Given the description of an element on the screen output the (x, y) to click on. 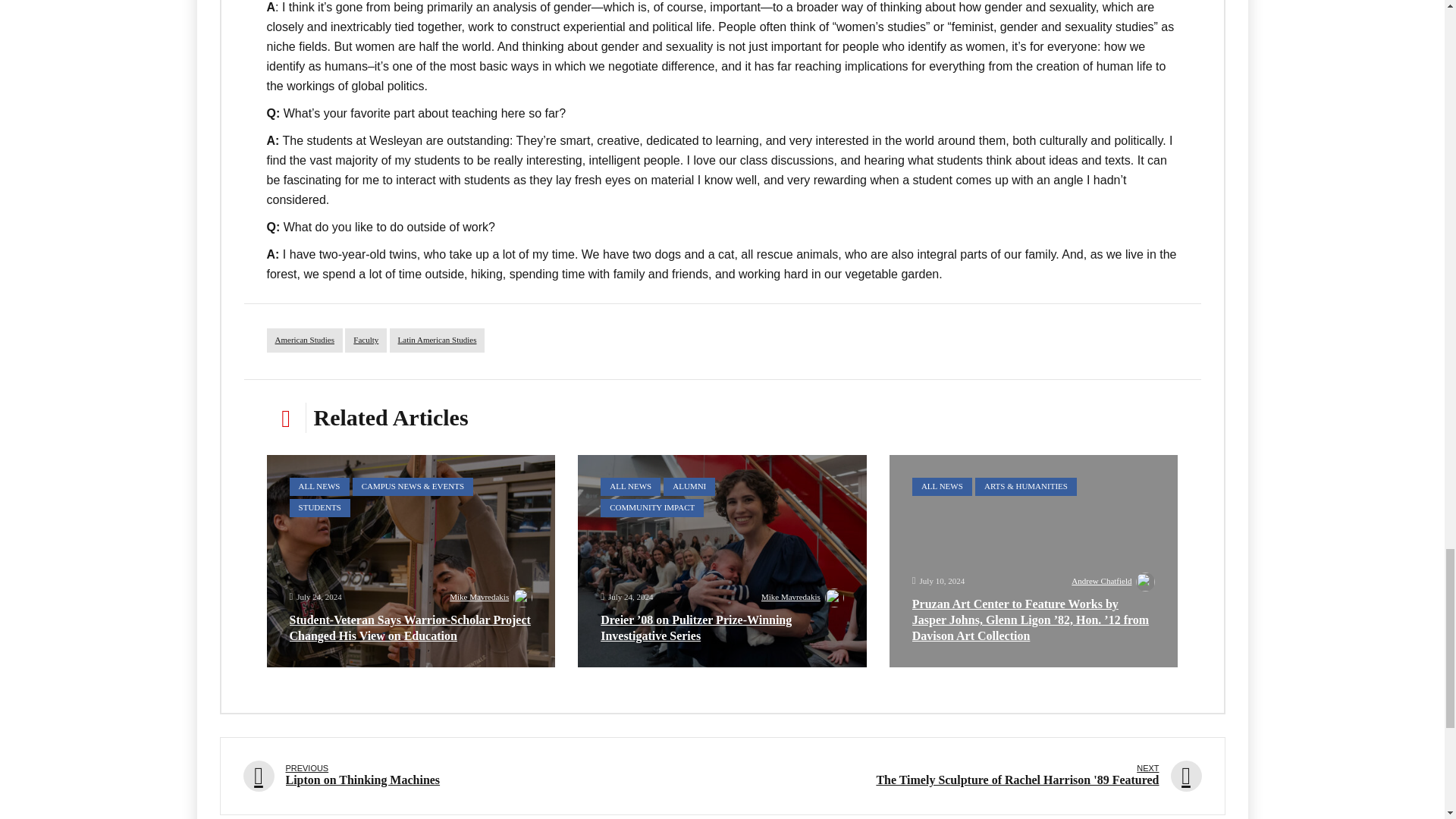
Mike Mavredakis (490, 598)
Mike Mavredakis (802, 598)
Faculty (366, 340)
ALUMNI (688, 486)
Andrew Chatfield (1112, 582)
ALL NEWS (942, 486)
COMMUNITY IMPACT (651, 507)
STUDENTS (319, 507)
